Given the description of an element on the screen output the (x, y) to click on. 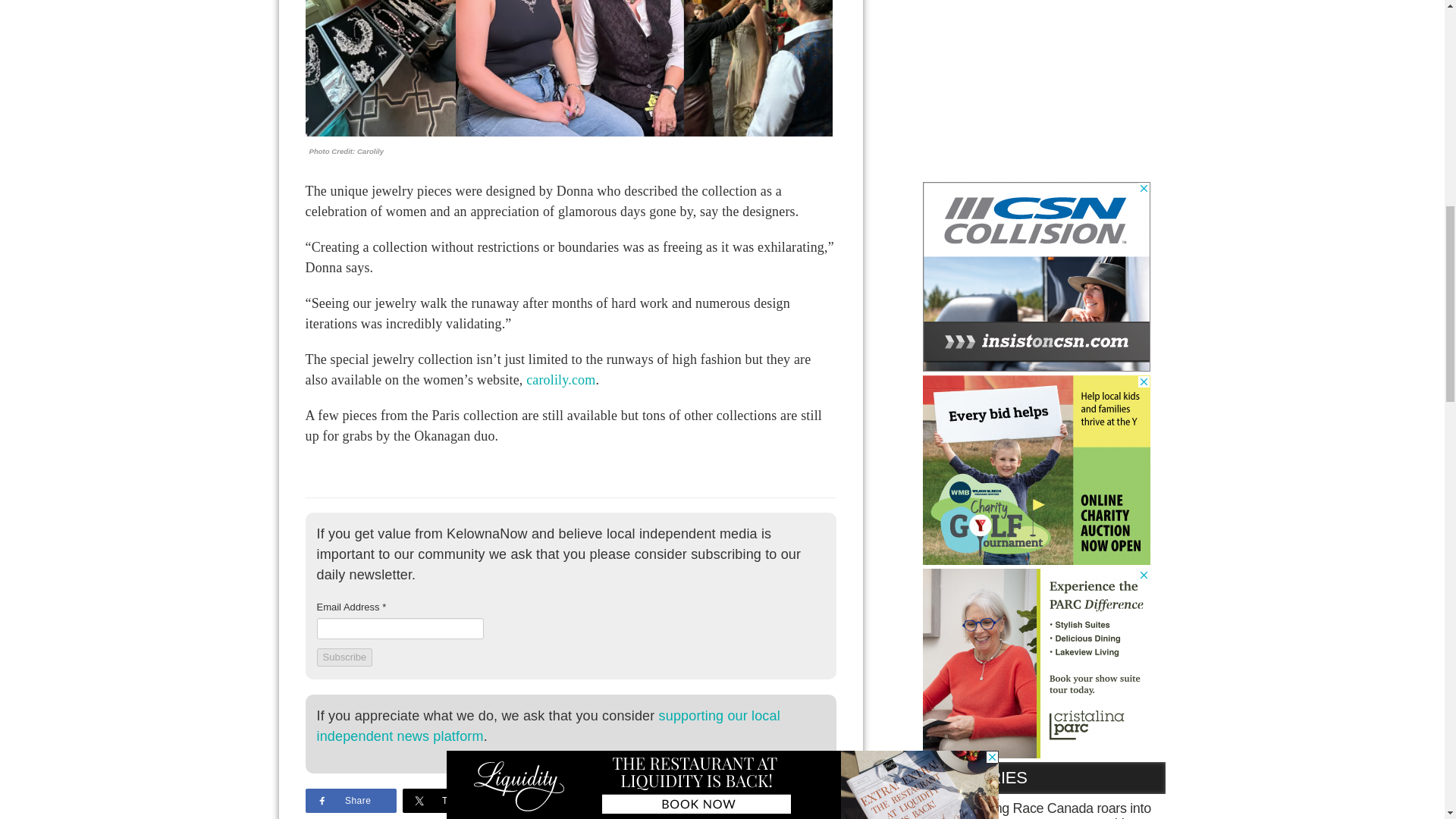
Subscribe (344, 657)
